Given the description of an element on the screen output the (x, y) to click on. 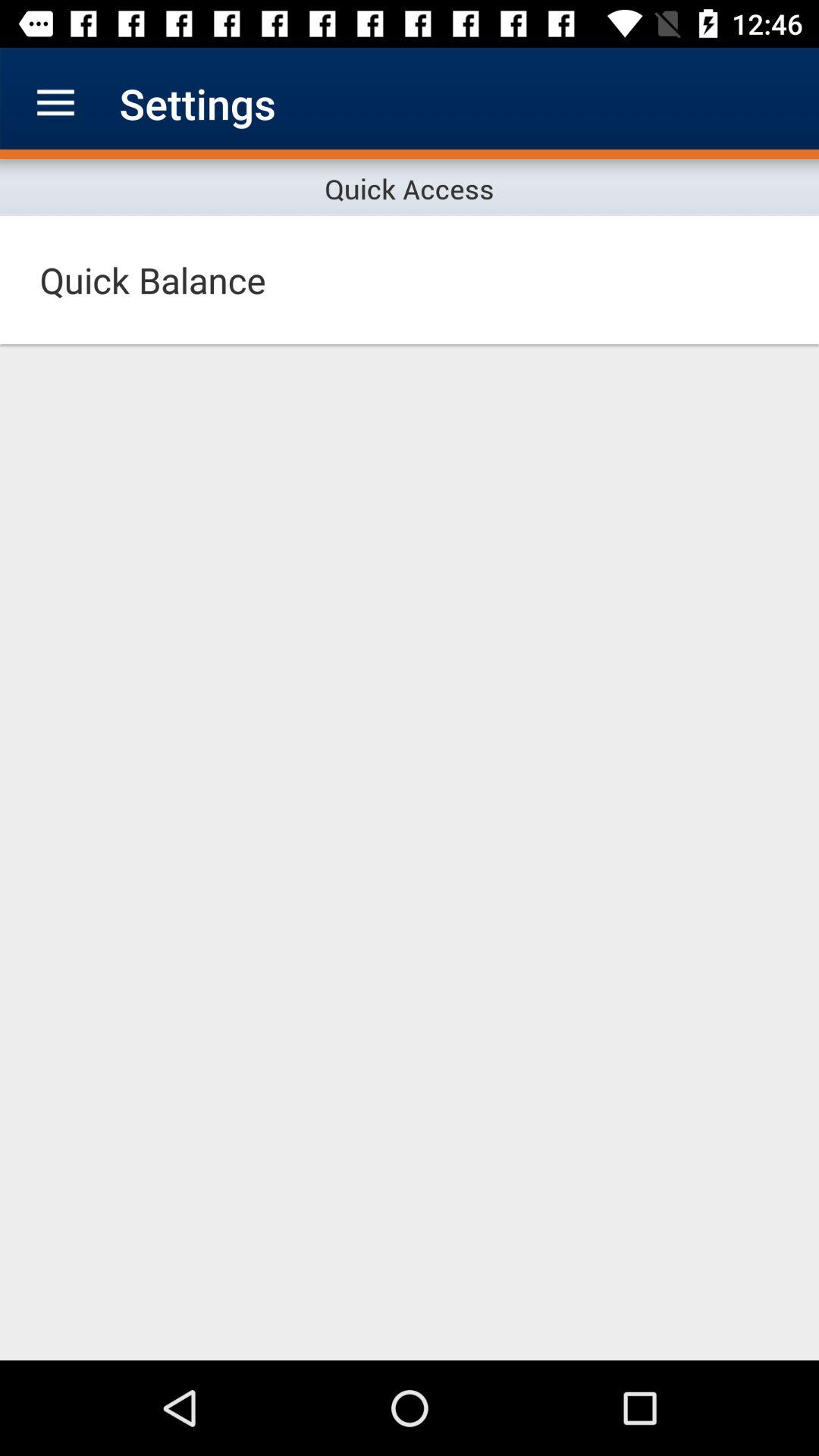
open item next to the settings (55, 103)
